Given the description of an element on the screen output the (x, y) to click on. 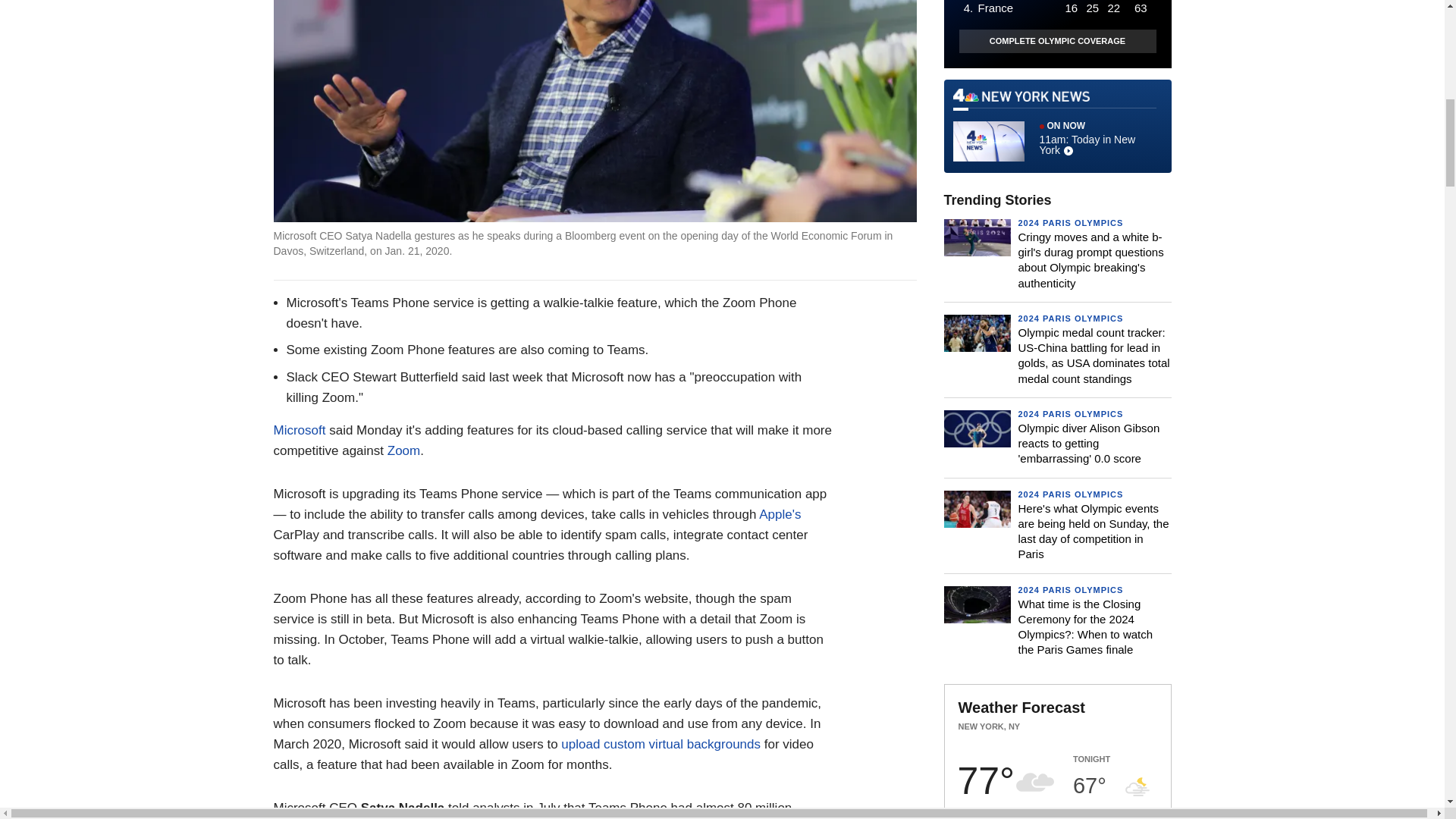
Zoom (403, 450)
Apple's (779, 513)
upload custom virtual backgrounds (660, 744)
Microsoft (298, 430)
